Given the description of an element on the screen output the (x, y) to click on. 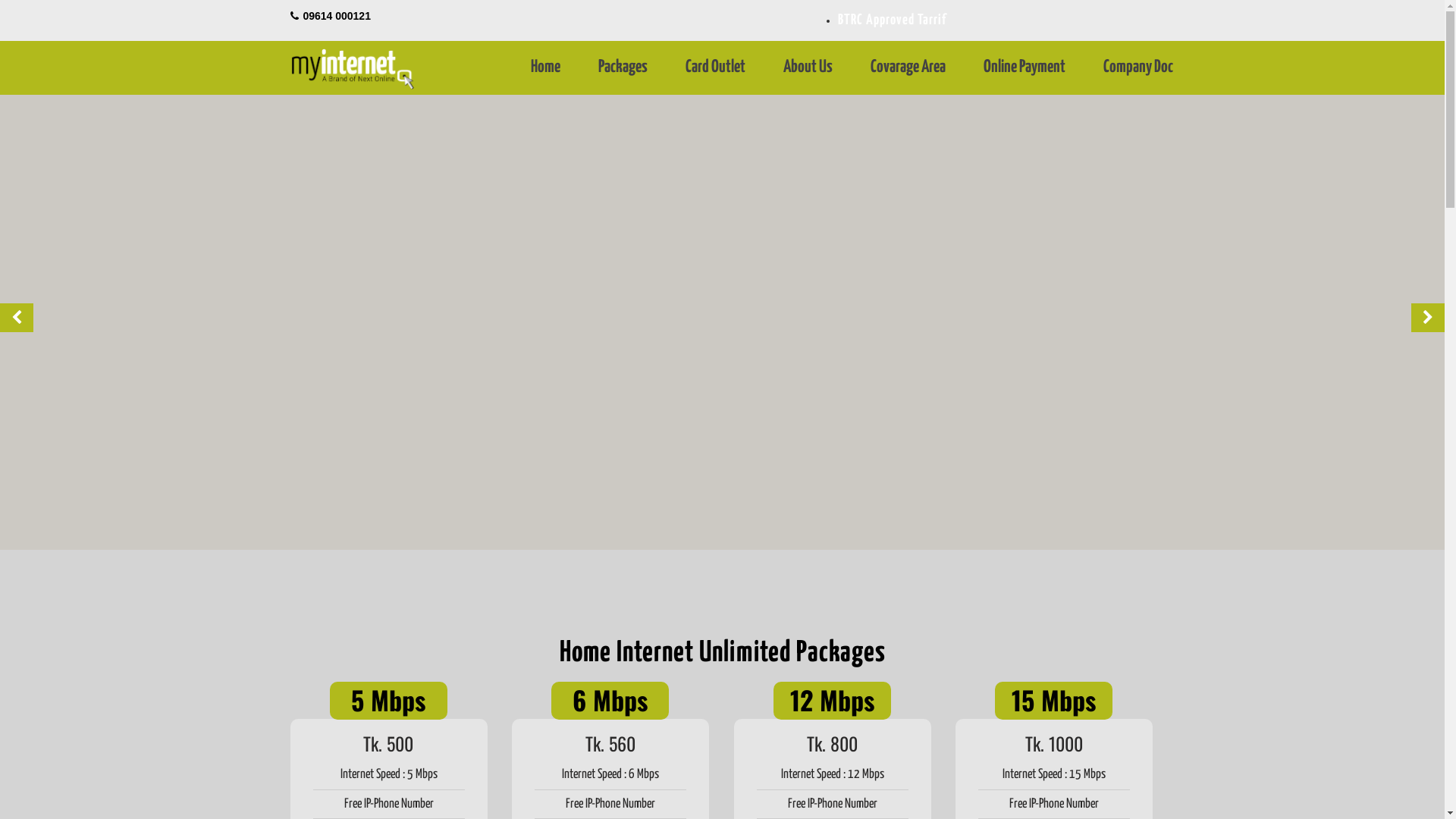
Home Element type: text (545, 66)
BTRC Approved Tarrif Element type: text (995, 20)
Packages Element type: text (622, 66)
Next Element type: text (1427, 317)
Card Outlet Element type: text (715, 66)
Previous Element type: text (16, 317)
Online Payment Element type: text (1024, 66)
Company Doc Element type: text (1138, 66)
Covarage Area Element type: text (907, 66)
About Us Element type: text (807, 66)
